Given the description of an element on the screen output the (x, y) to click on. 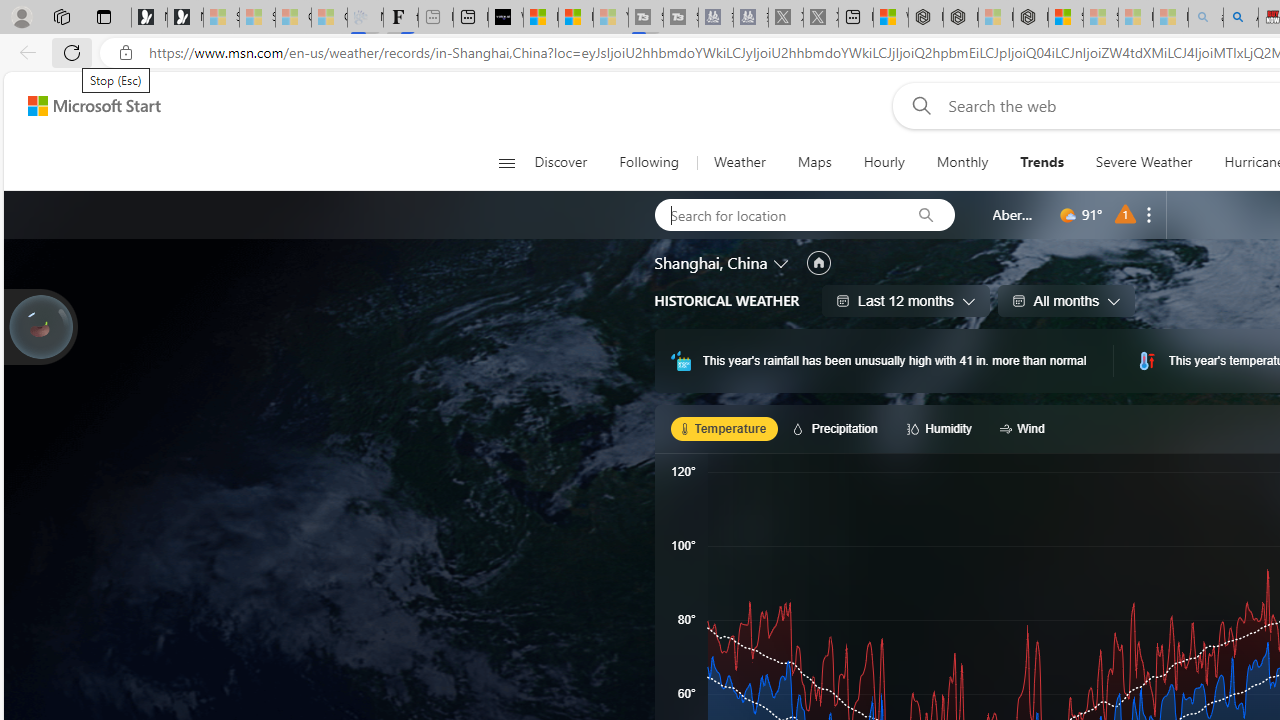
Trends (1041, 162)
Microsoft Start (575, 17)
Class: button-glyph (505, 162)
Discover (568, 162)
Refresh (72, 52)
Temperature (724, 428)
Join us in planting real trees to help our planet! (40, 325)
Workspaces (61, 16)
